Given the description of an element on the screen output the (x, y) to click on. 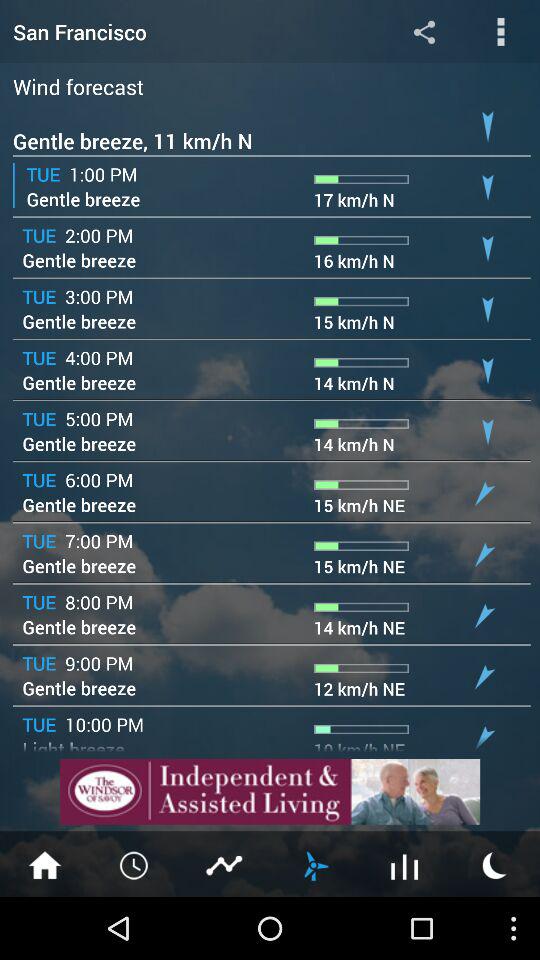
check wind speeds (315, 864)
